Given the description of an element on the screen output the (x, y) to click on. 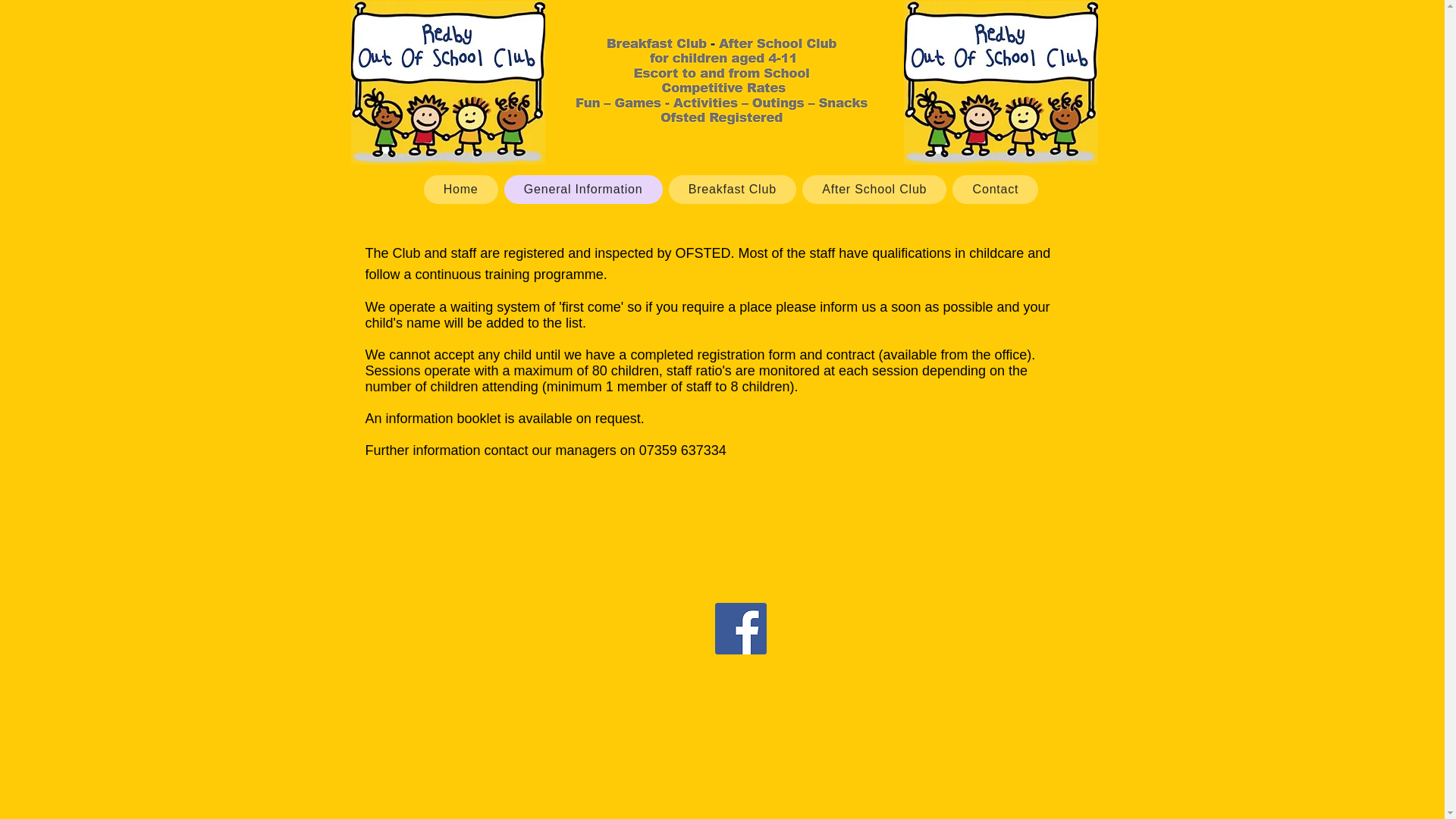
Breakfast Club (732, 189)
Home (460, 189)
General Information (582, 189)
After School Club (874, 189)
Contact (995, 189)
header.png (722, 82)
